Given the description of an element on the screen output the (x, y) to click on. 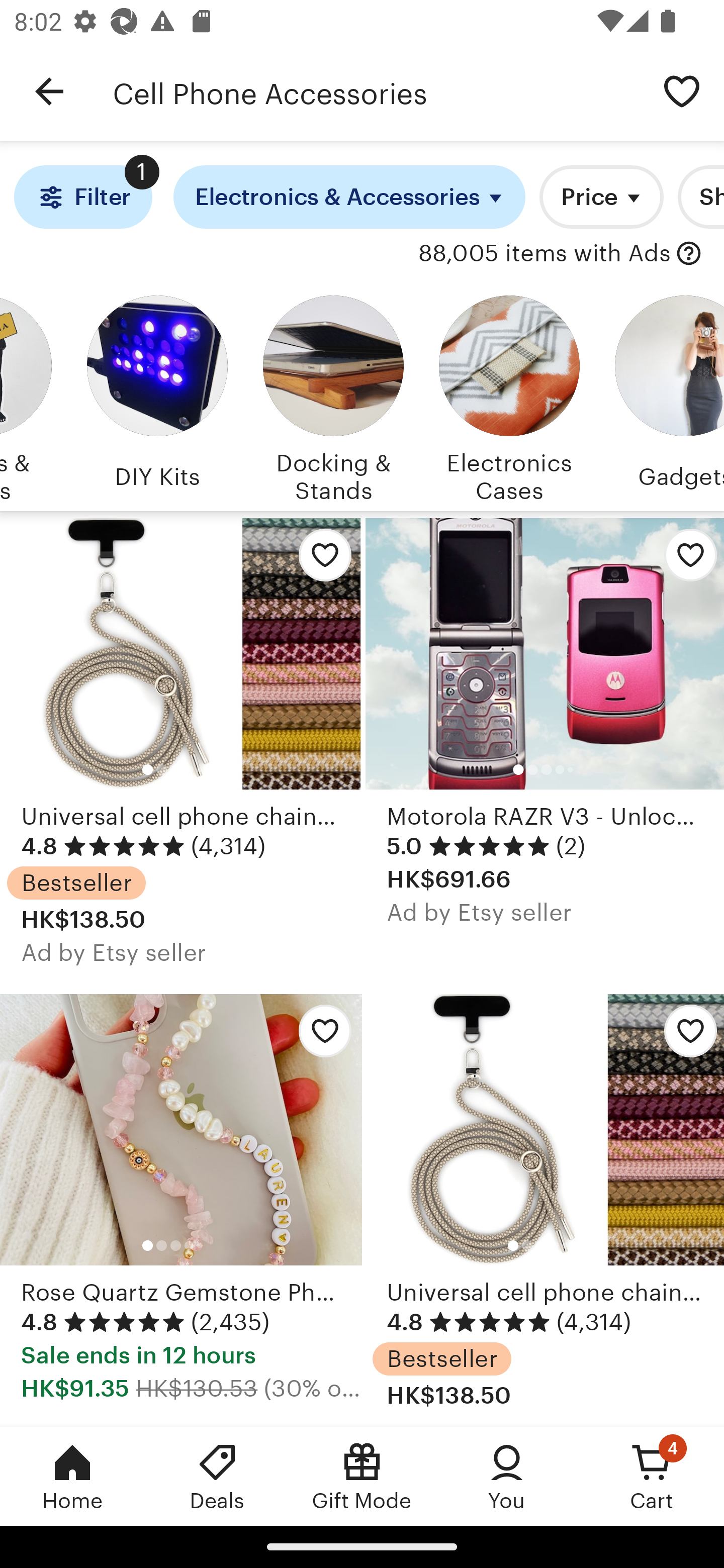
Navigate up (49, 91)
Save search (681, 90)
Cell Phone Accessories (375, 91)
Filter (82, 197)
Electronics & Accessories (349, 197)
Price (601, 197)
88,005 items with Ads (544, 253)
with Ads (688, 253)
DIY Kits (156, 395)
Docking & Stands (332, 395)
Electronics Cases (509, 395)
Gadgets (666, 395)
Deals (216, 1475)
Gift Mode (361, 1475)
You (506, 1475)
Cart, 4 new notifications Cart (651, 1475)
